Given the description of an element on the screen output the (x, y) to click on. 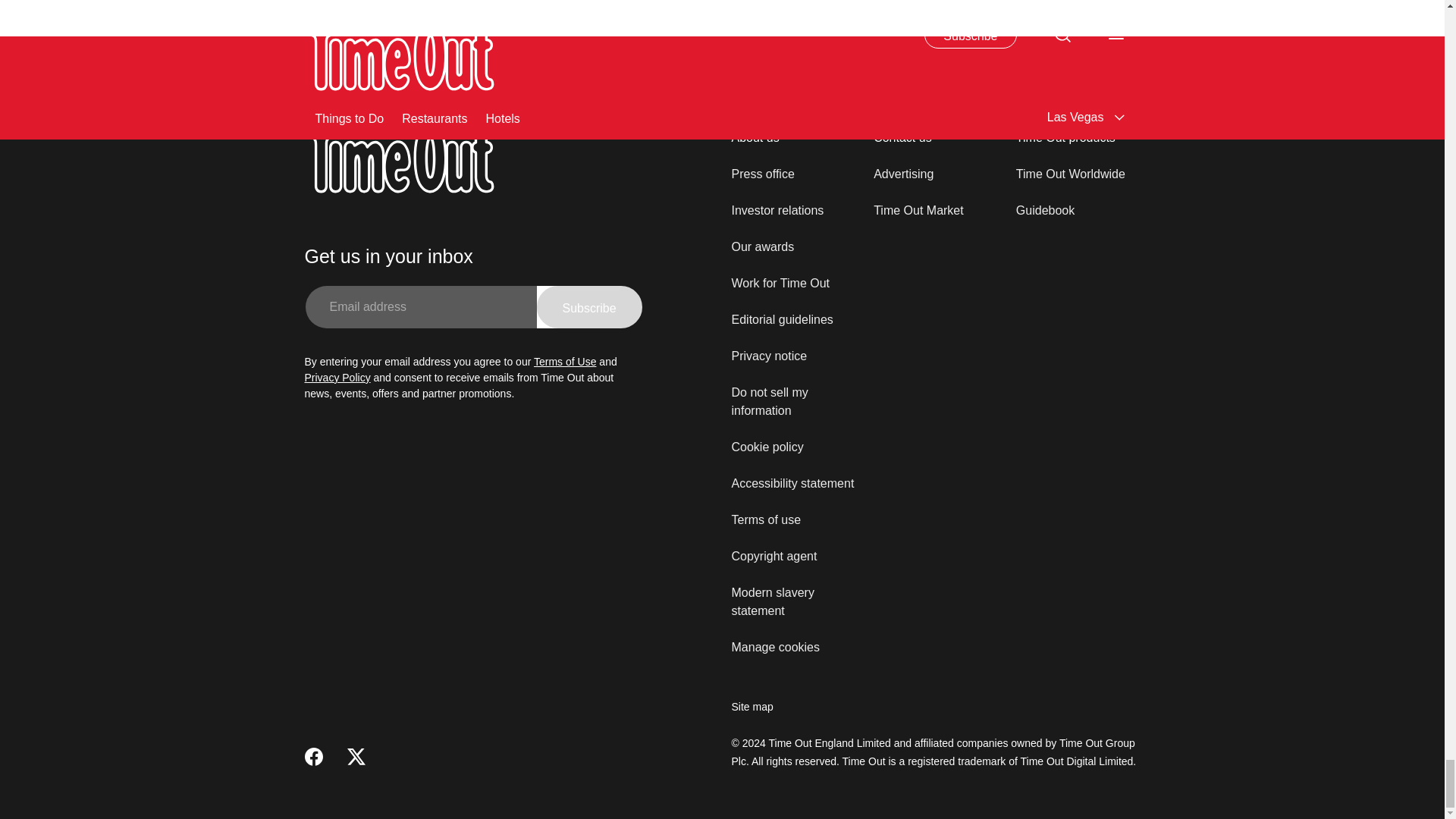
Subscribe (589, 306)
